Given the description of an element on the screen output the (x, y) to click on. 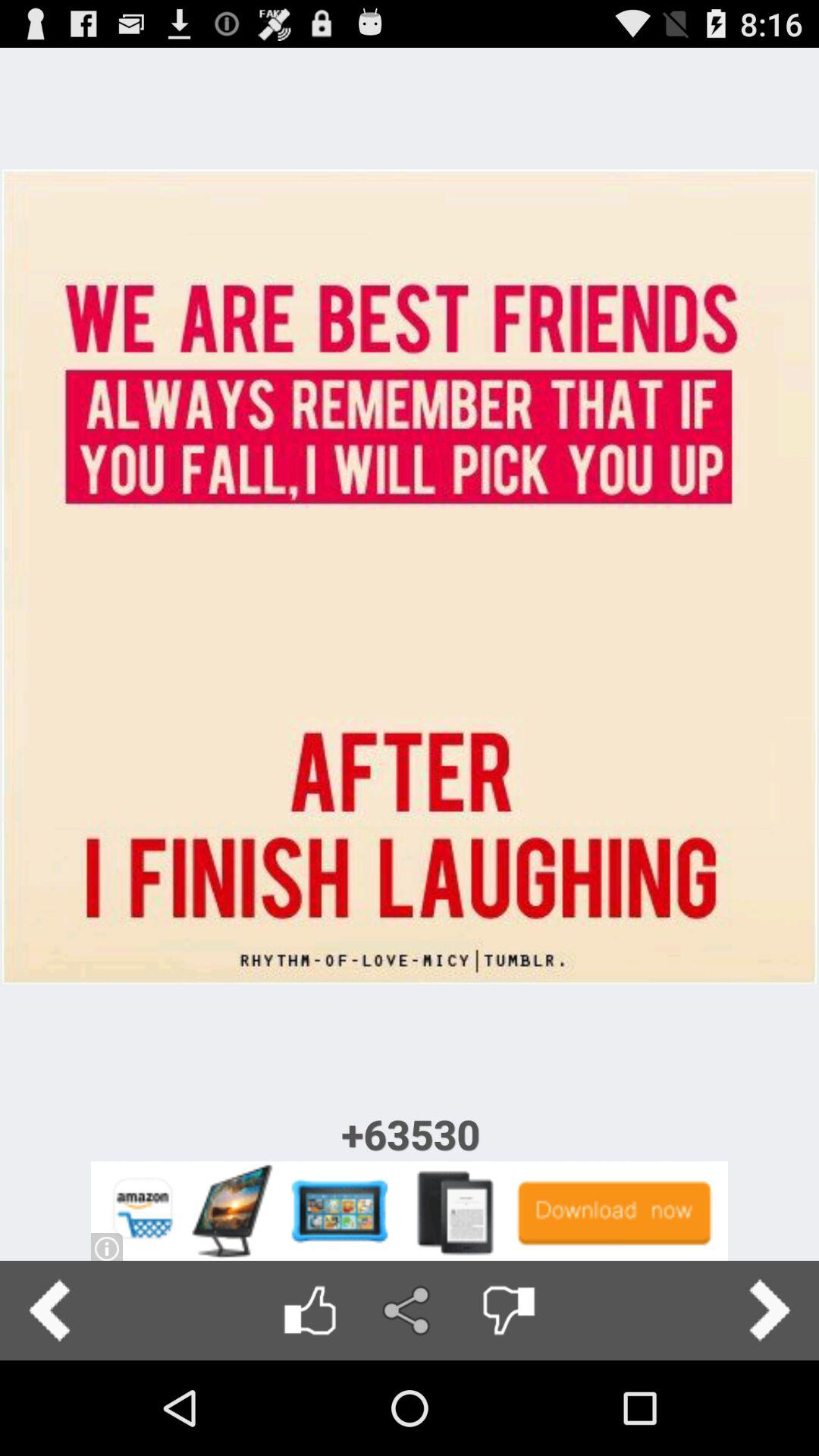
go to previous page (49, 1310)
